Given the description of an element on the screen output the (x, y) to click on. 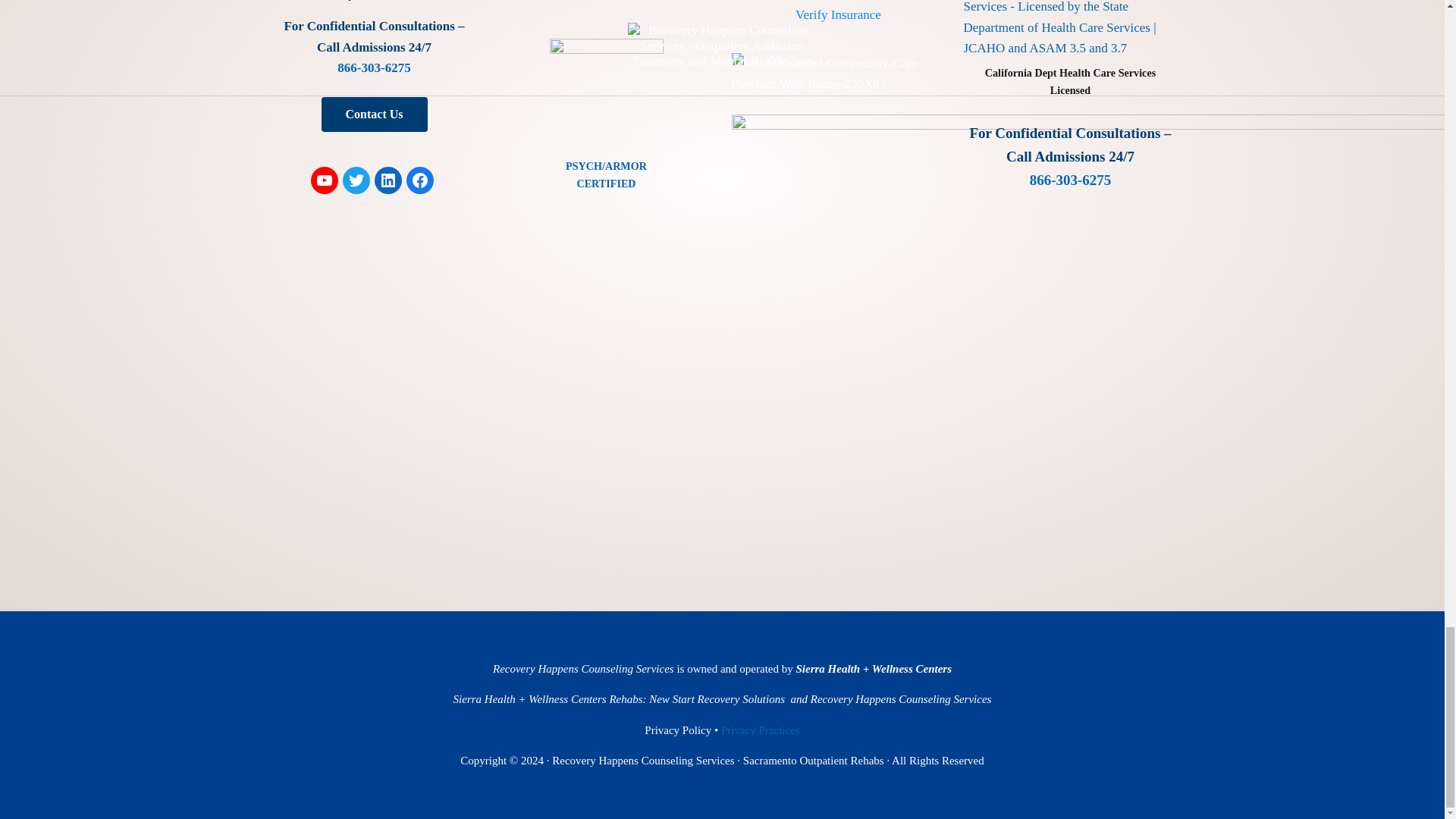
VA Authorized Community Care Provider (837, 74)
Contact Us (374, 114)
916-536-7707 (398, 0)
866-303-6275 (373, 67)
